Given the description of an element on the screen output the (x, y) to click on. 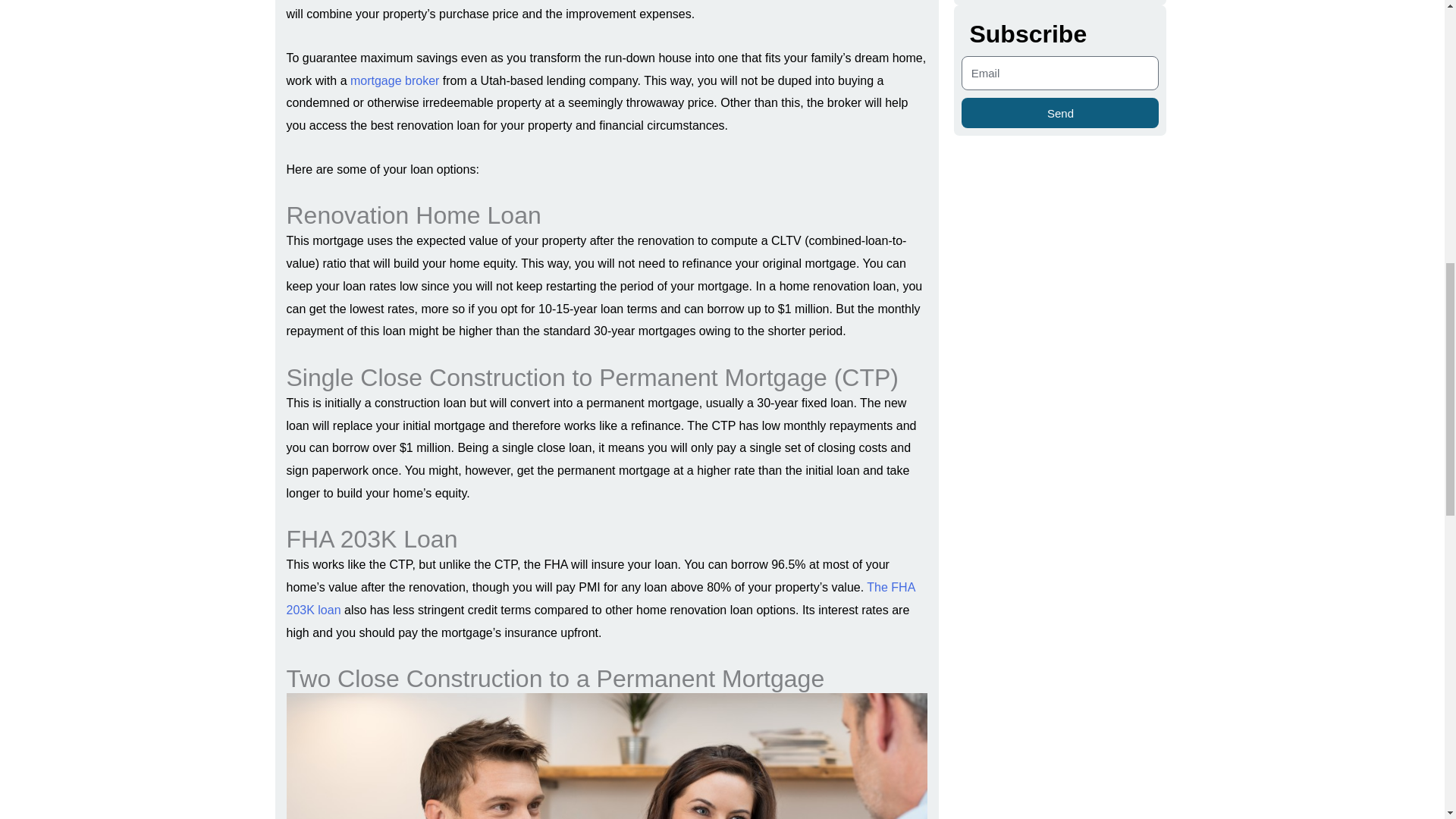
Integrity First Lending (394, 80)
The Balance Small Business (600, 598)
mortgage broker (394, 80)
The FHA 203K loan (600, 598)
Send (1059, 112)
